Given the description of an element on the screen output the (x, y) to click on. 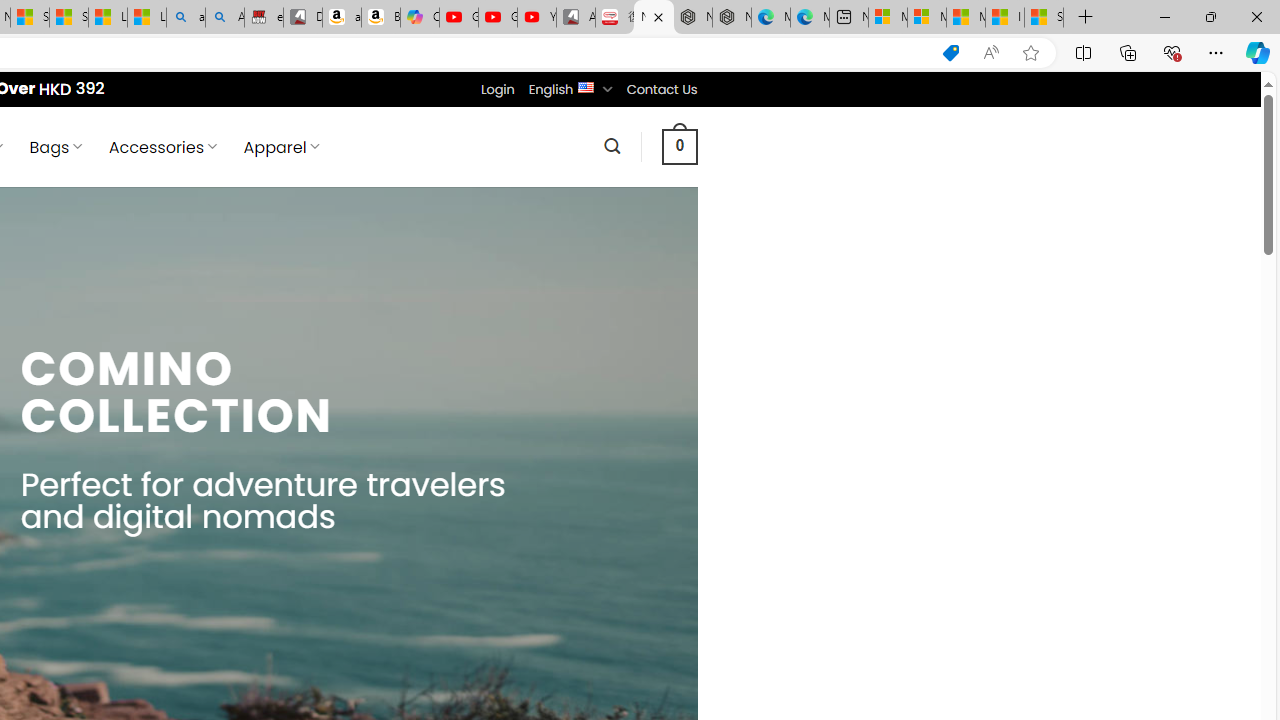
 0  (679, 146)
Login (497, 89)
All Cubot phones (575, 17)
YouTube Kids - An App Created for Kids to Explore Content (536, 17)
Nordace - Nordace has arrived Hong Kong (732, 17)
  0   (679, 146)
Microsoft account | Privacy (926, 17)
